Given the description of an element on the screen output the (x, y) to click on. 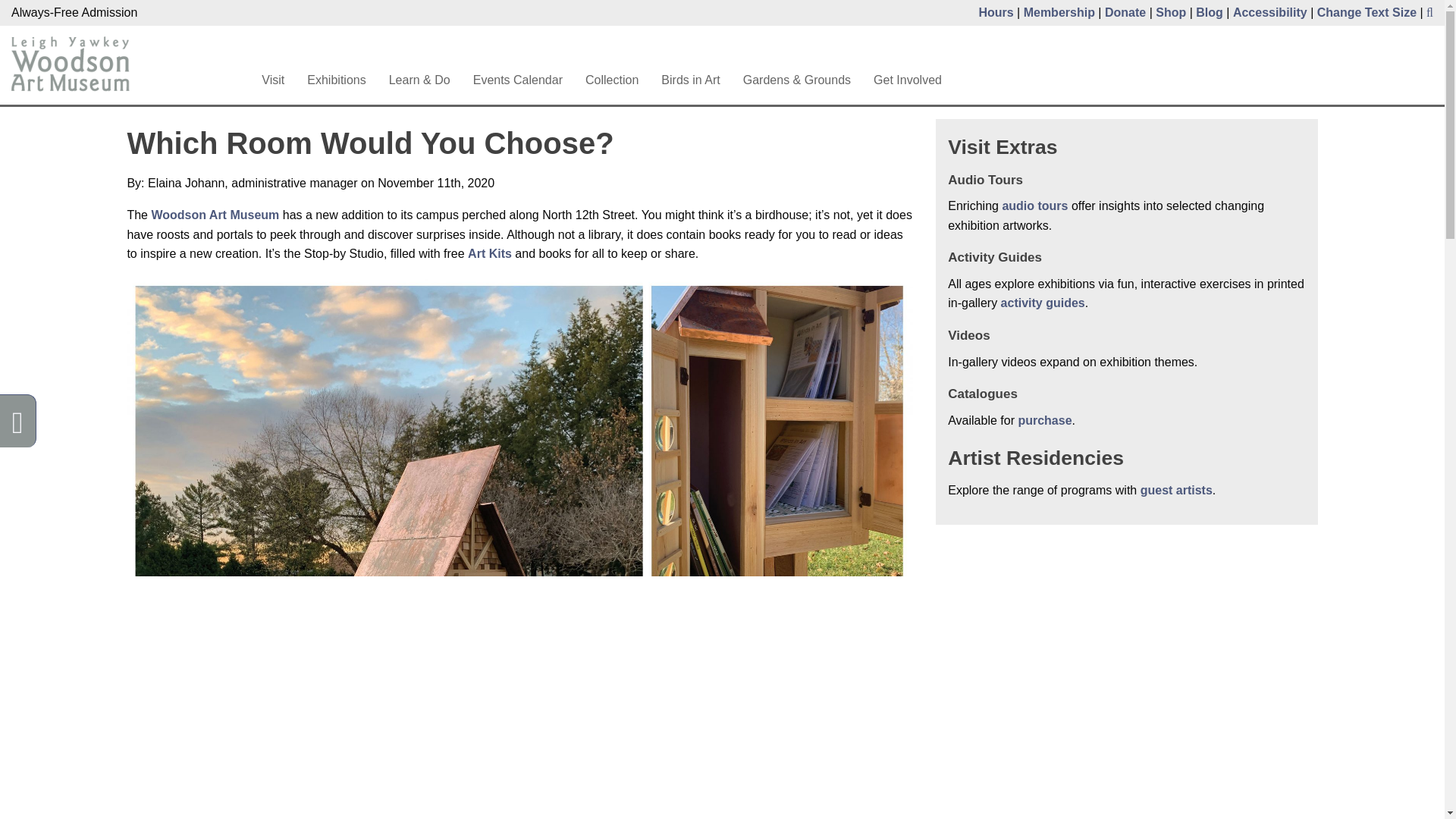
Go (926, 50)
Membership (1058, 11)
Blog (1209, 11)
Change Text Size (1366, 11)
Donate (1125, 11)
Accessibility (1270, 11)
Shop (1171, 11)
Exhibitions (336, 80)
Hours (995, 11)
